Given the description of an element on the screen output the (x, y) to click on. 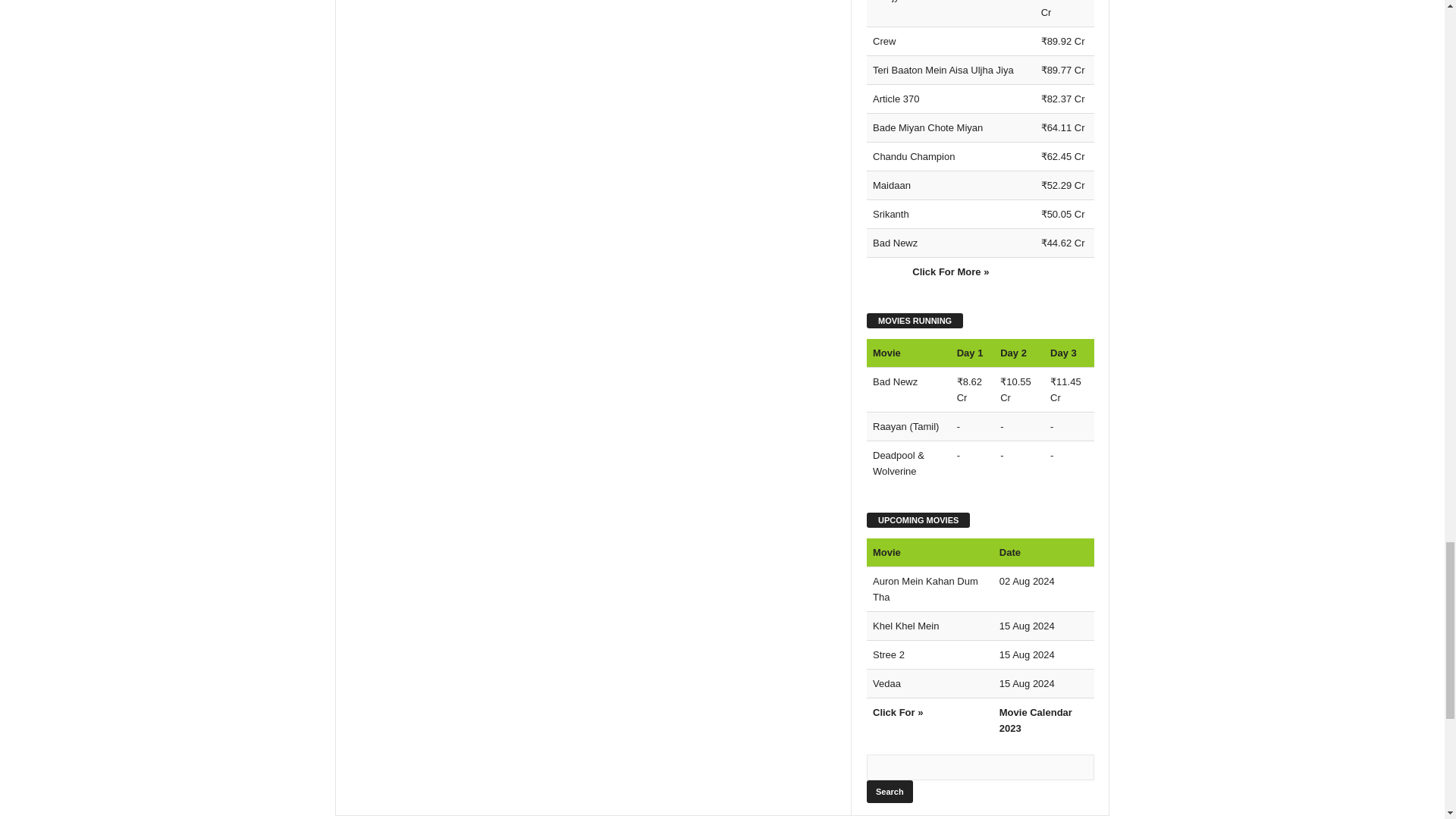
Search (889, 791)
